Given the description of an element on the screen output the (x, y) to click on. 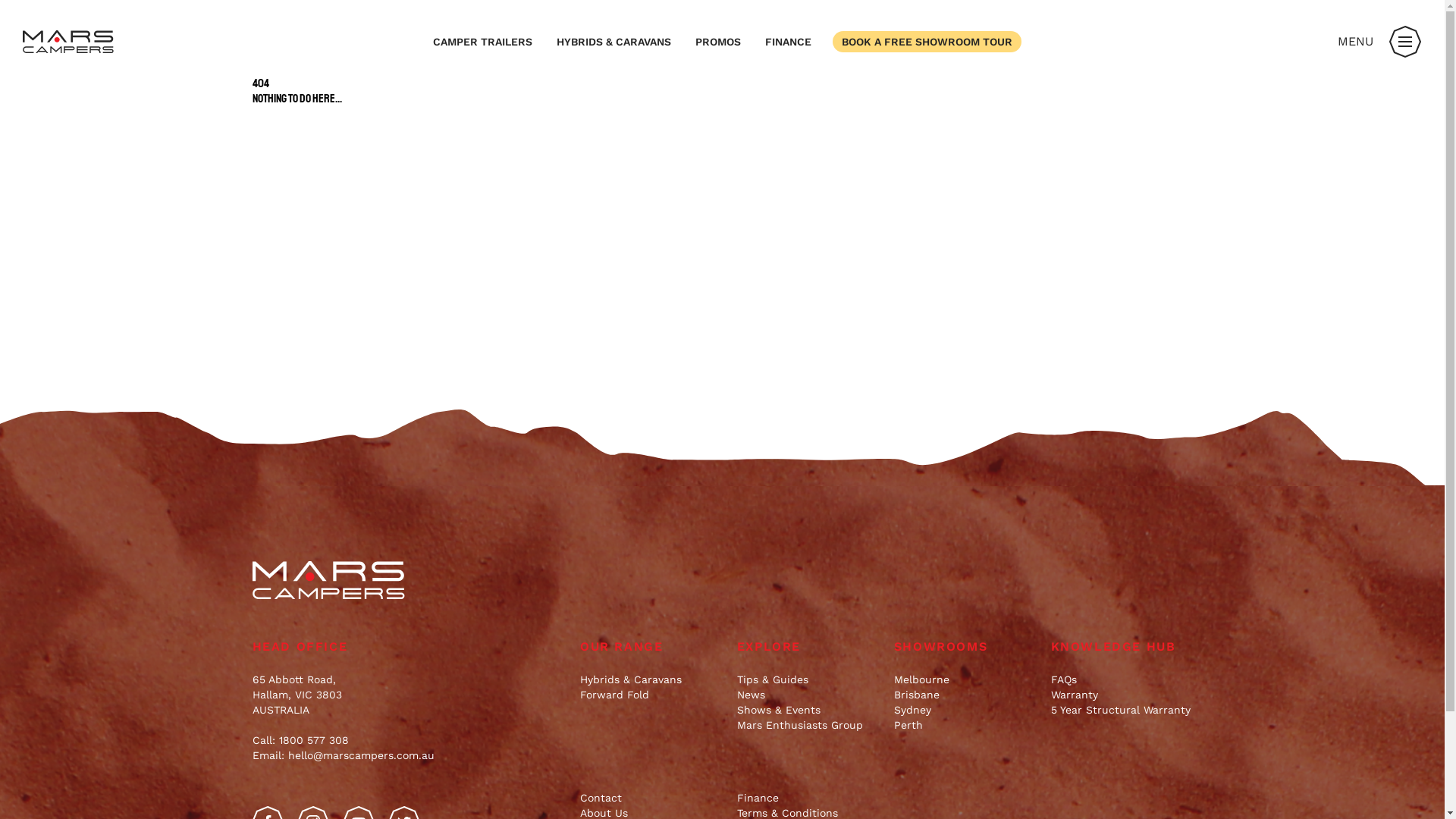
5 Year Structural Warranty Element type: text (1121, 709)
SHOWROOMS Element type: text (964, 646)
FAQs Element type: text (1121, 679)
Sydney Element type: text (964, 709)
HYBRIDS & CARAVANS Element type: text (613, 41)
BOOK A FREE SHOWROOM TOUR Element type: text (926, 41)
Shows & Events Element type: text (807, 709)
Perth Element type: text (964, 724)
FINANCE Element type: text (788, 41)
OUR RANGE Element type: text (650, 646)
Forward Fold Element type: text (650, 694)
Finance Element type: text (807, 797)
Contact Element type: text (650, 797)
Tips & Guides Element type: text (807, 679)
Hybrids & Caravans Element type: text (650, 679)
Brisbane Element type: text (964, 694)
Mars Enthusiasts Group Element type: text (807, 724)
Call: 1800 577 308 Element type: text (299, 740)
Warranty Element type: text (1121, 694)
Email: hello@marscampers.com.au Element type: text (342, 755)
CAMPER TRAILERS Element type: text (482, 41)
Melbourne Element type: text (964, 679)
EXPLORE Element type: text (807, 646)
News Element type: text (807, 694)
KNOWLEDGE HUB Element type: text (1121, 646)
PROMOS Element type: text (717, 41)
